Given the description of an element on the screen output the (x, y) to click on. 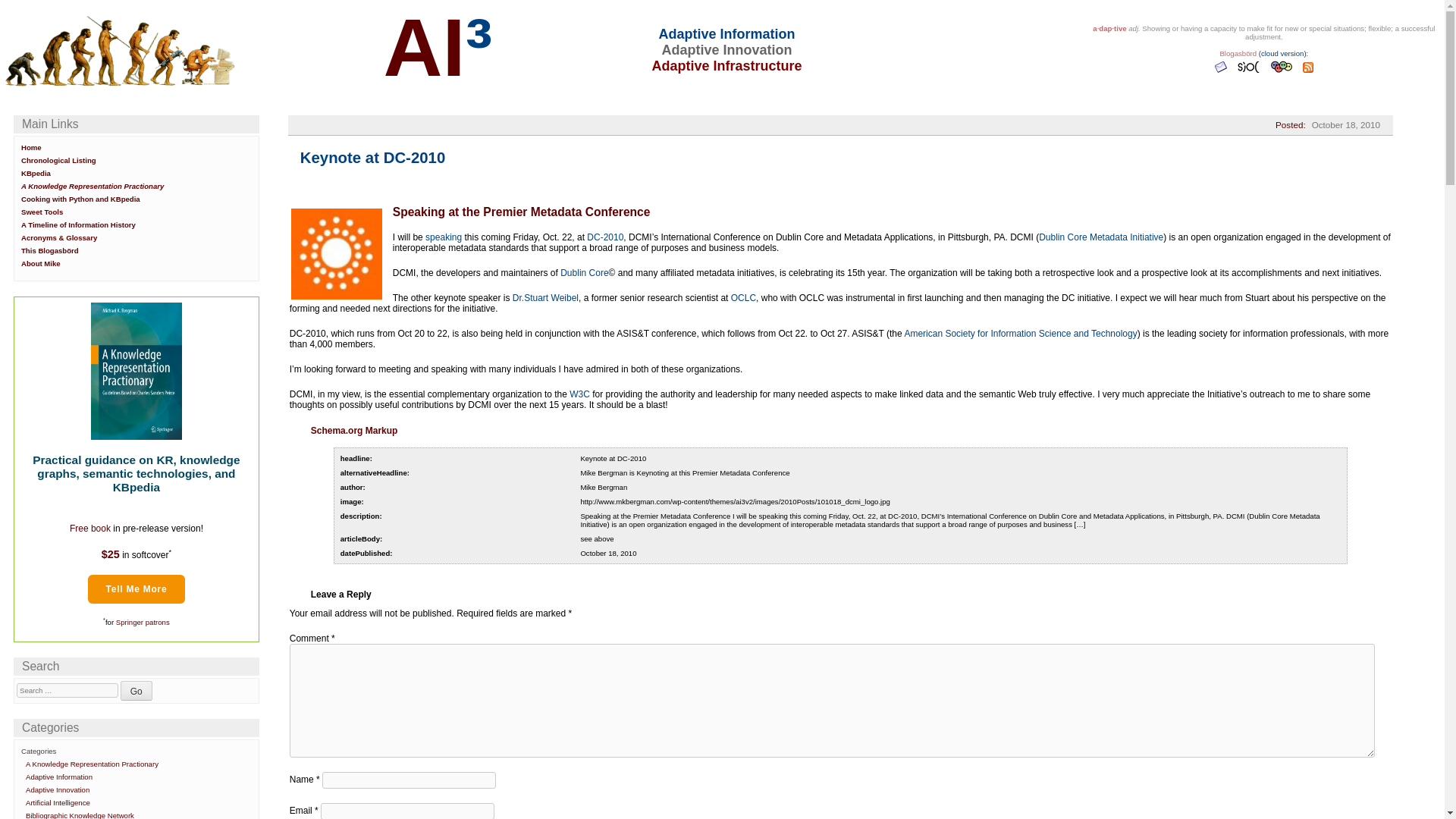
Search for: (66, 690)
American Society for Information Science and Technology (1020, 333)
Read about this blog (1238, 53)
Dr.Stuart Weibel (545, 297)
Go (136, 690)
KBpedia (35, 172)
email Mike (1222, 72)
DC-2010 (604, 236)
Adaptive Information (59, 777)
Cooking with Python and KBpedia (80, 198)
Dublin Core Metadata Initiative (1101, 236)
Get SIOC Profile (1249, 72)
Get FOAF Profile (1283, 72)
W3C (579, 394)
Chronological Listing (58, 160)
